Given the description of an element on the screen output the (x, y) to click on. 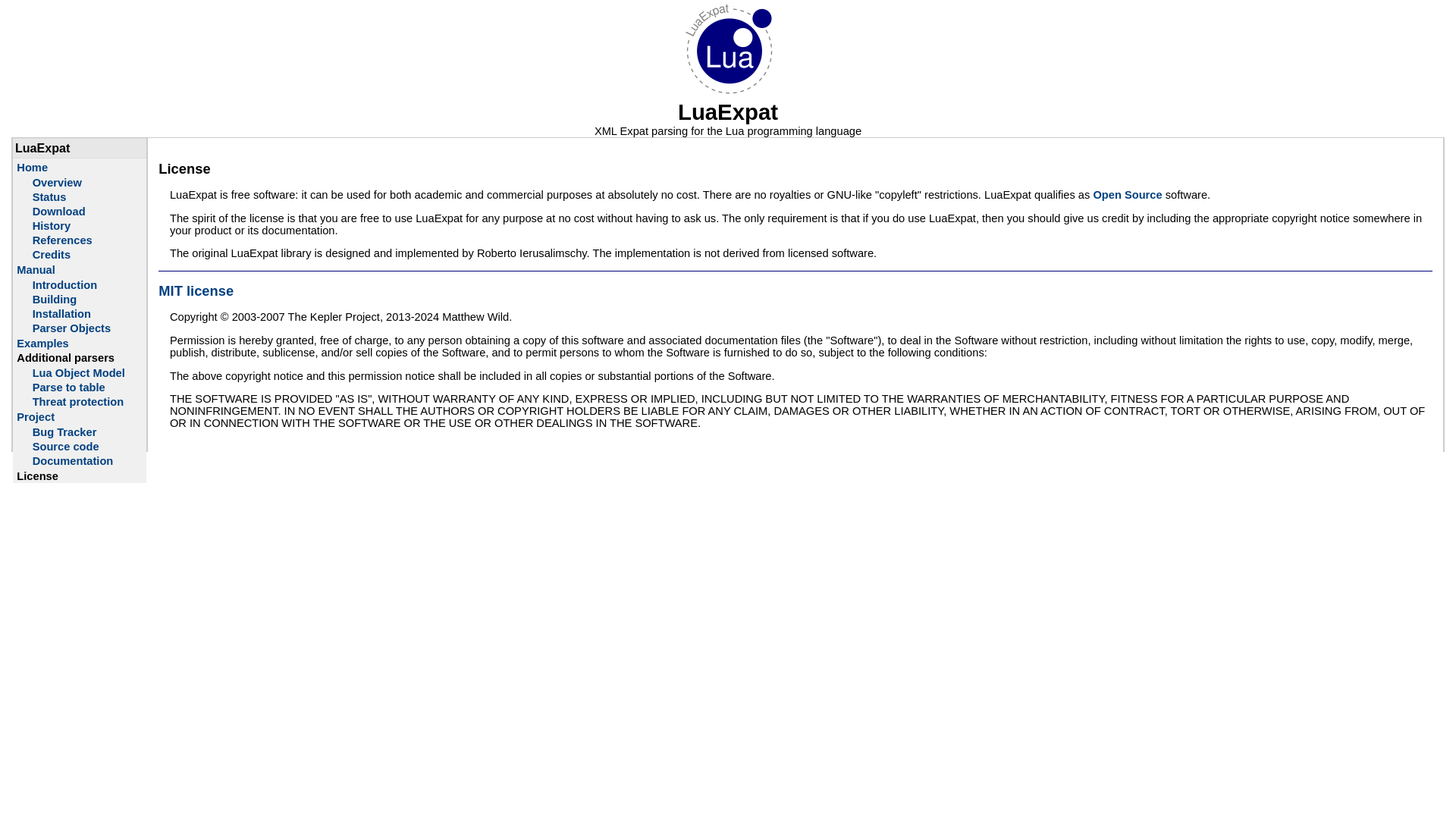
Source code (65, 446)
Lua Object Model (78, 372)
Overview (56, 182)
Building (54, 299)
Documentation (72, 460)
Installation (61, 313)
Credits (51, 254)
Parse to table (68, 387)
Status (49, 196)
Download (58, 211)
Home (32, 167)
Introduction (64, 285)
References (62, 240)
Project (35, 417)
Examples (42, 343)
